Given the description of an element on the screen output the (x, y) to click on. 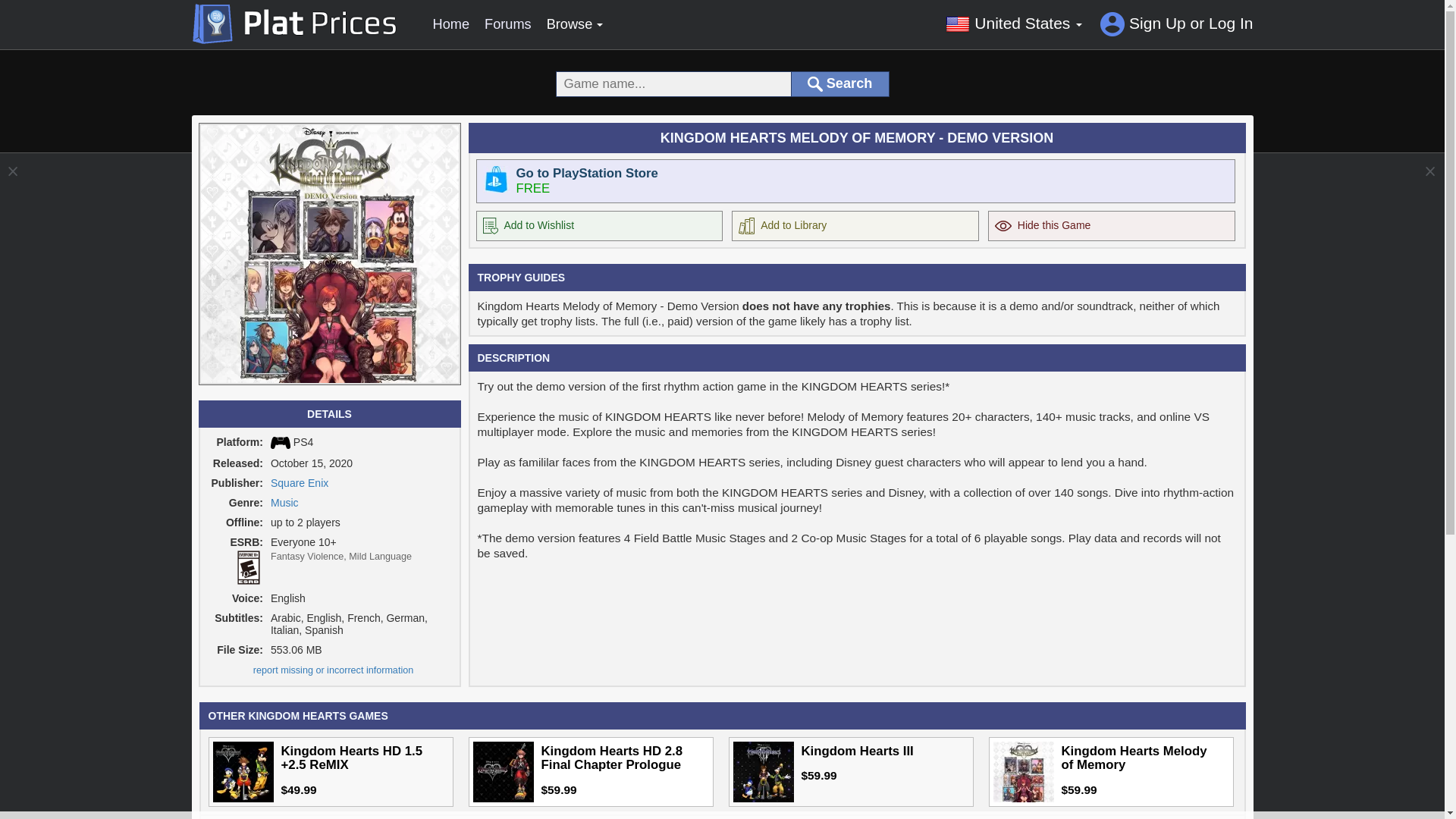
Kingdom Hearts HD 2.8 Final Chapter Prologue (503, 772)
Browse (575, 23)
Kingdom Hearts Melody of Memory - Demo Version (329, 254)
United States (1012, 22)
Kingdom Hearts III (762, 772)
Home (450, 24)
Forums (507, 24)
Kingdom Hearts Melody of Memory (1023, 772)
